Given the description of an element on the screen output the (x, y) to click on. 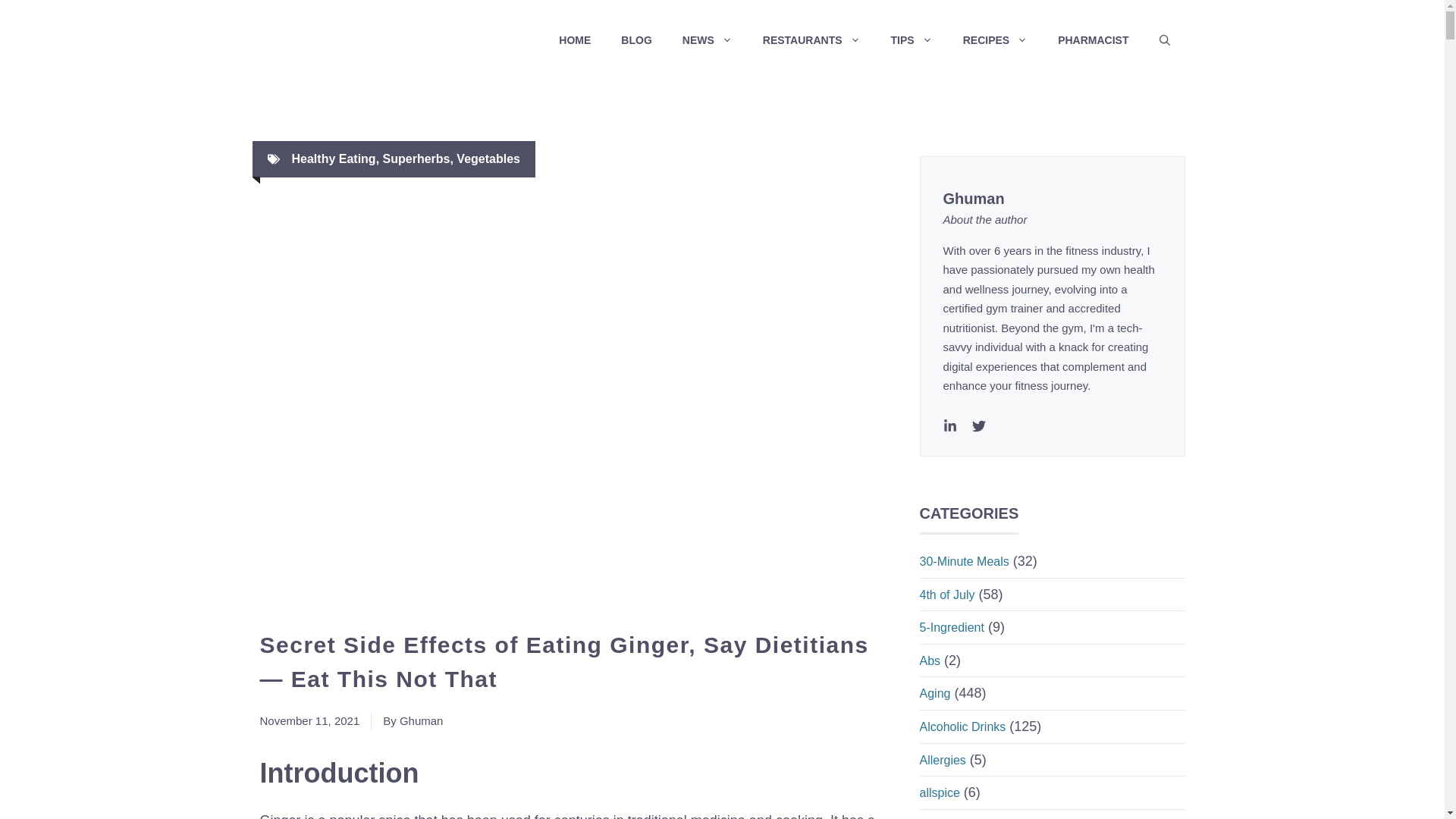
RESTAURANTS (812, 40)
NEWS (707, 40)
RECIPES (994, 40)
HOME (574, 40)
TIPS (911, 40)
BLOG (635, 40)
